Given the description of an element on the screen output the (x, y) to click on. 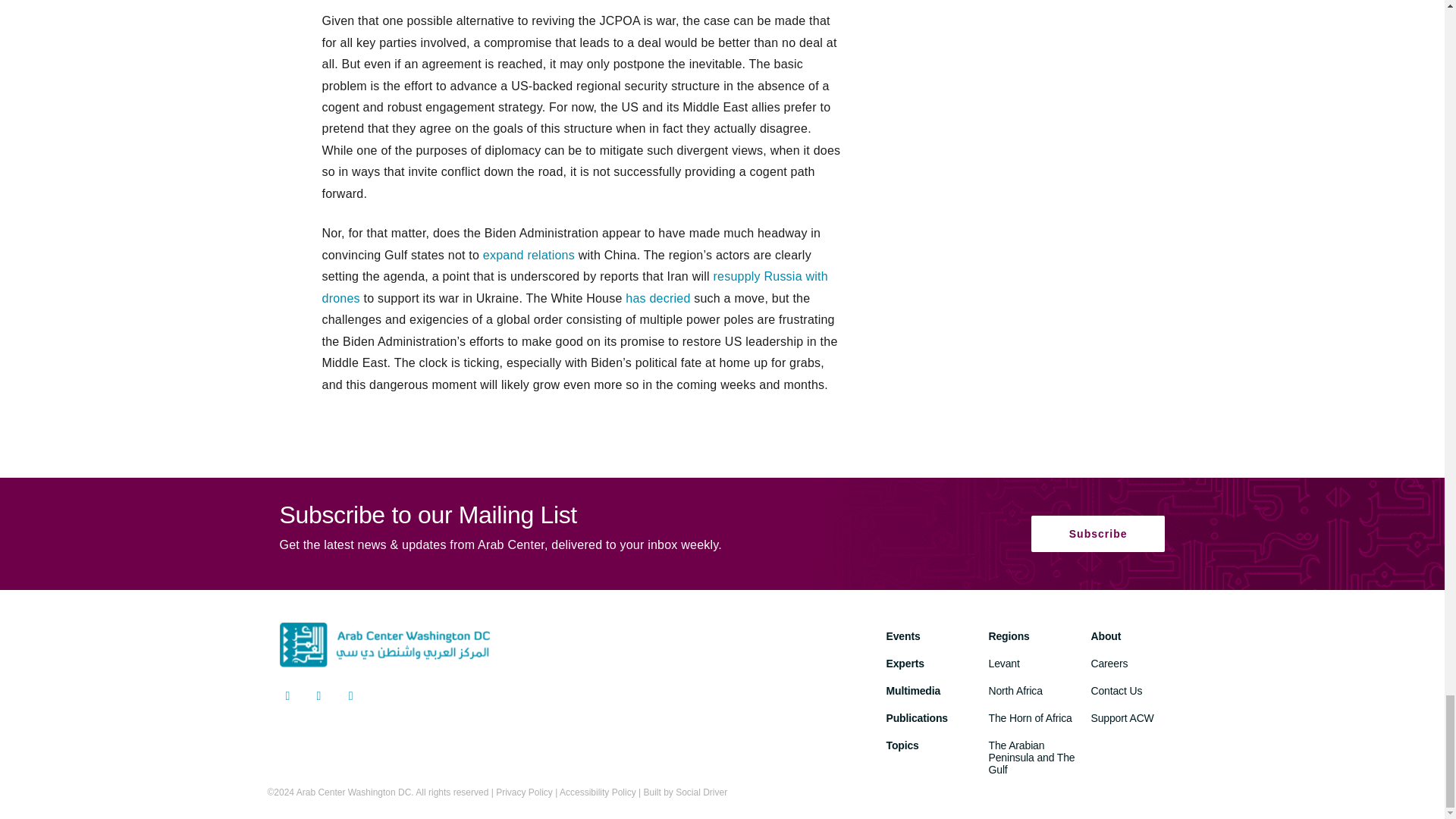
Go to Arab Center Washington DC Twitter Channel. (287, 698)
Social Driver Website (700, 792)
Go to Arab Center Washington DC Facebook Profile. (319, 698)
Go to Arab Center Washington DC YouTube Channel. (350, 698)
